Given the description of an element on the screen output the (x, y) to click on. 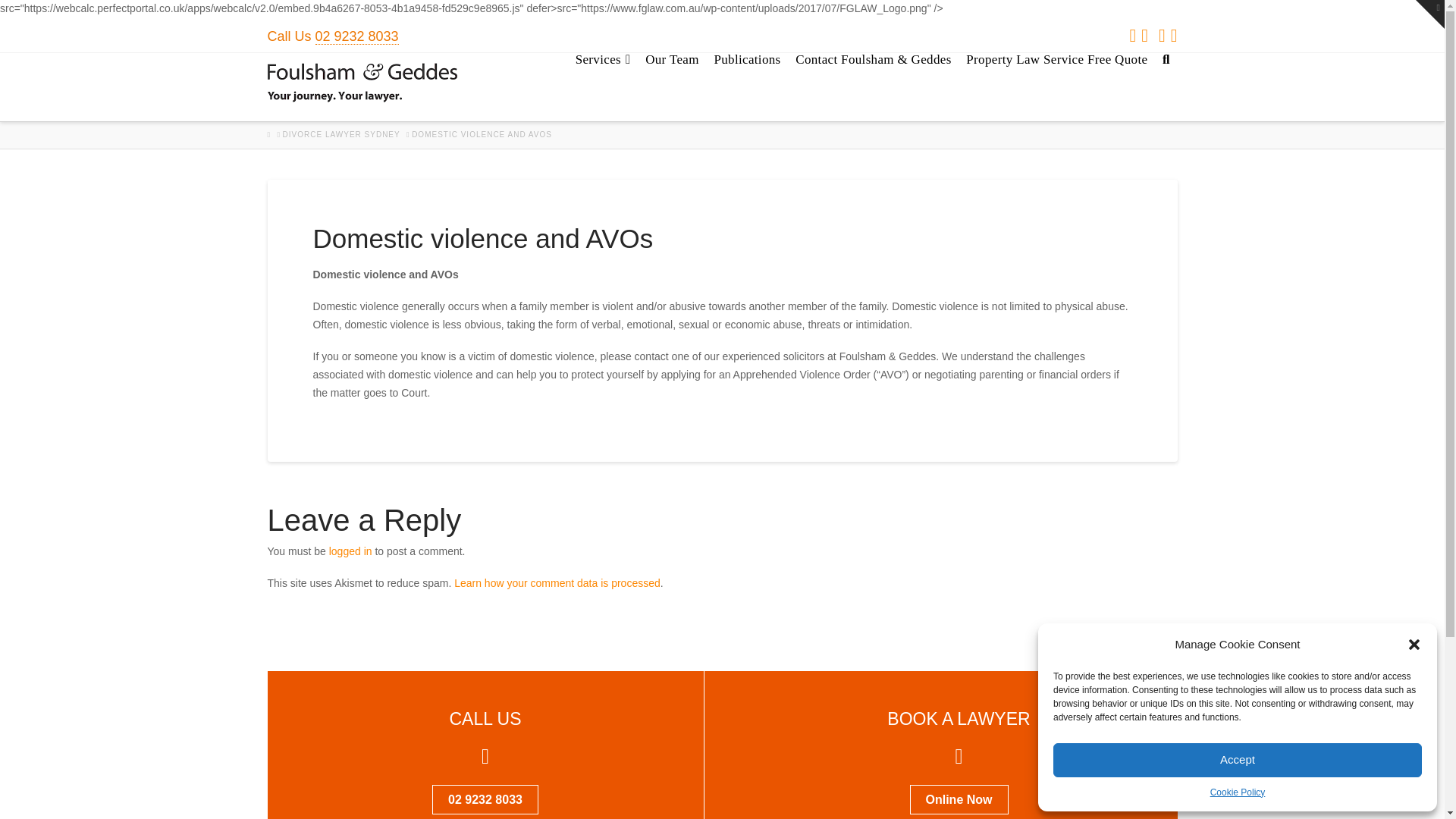
Publications (746, 87)
Property Law Service Free Quote (1056, 87)
Accept (1237, 759)
Cookie Policy (1237, 792)
You Are Here (481, 134)
Our Team (671, 87)
Services (602, 87)
02 9232 8033 (356, 36)
Back to Top (1423, 797)
